Given the description of an element on the screen output the (x, y) to click on. 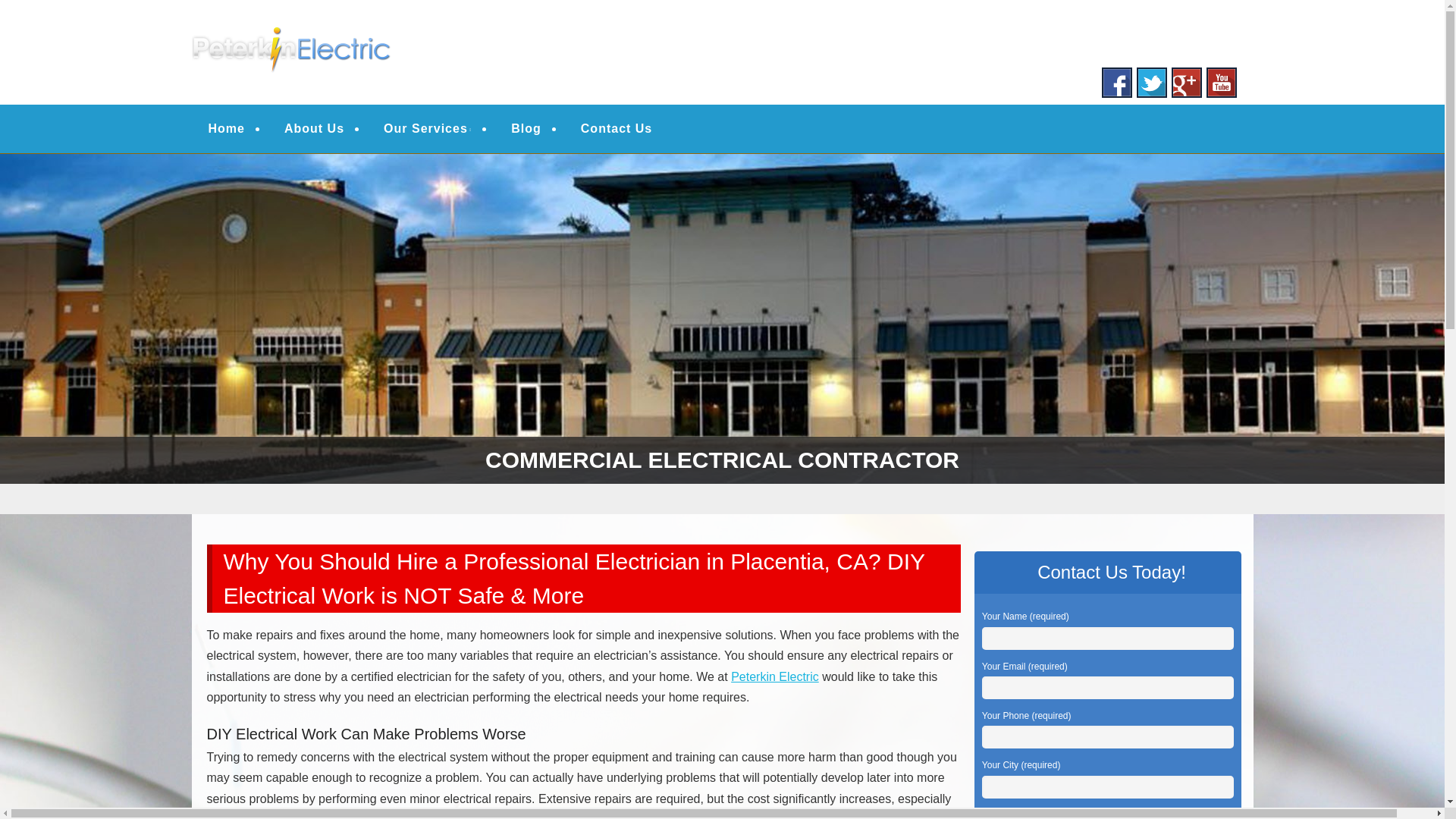
Peterkin Electric (774, 676)
Home (225, 128)
About Us (314, 128)
Blog (525, 128)
Contact Us (616, 128)
Our Services (427, 128)
